Given the description of an element on the screen output the (x, y) to click on. 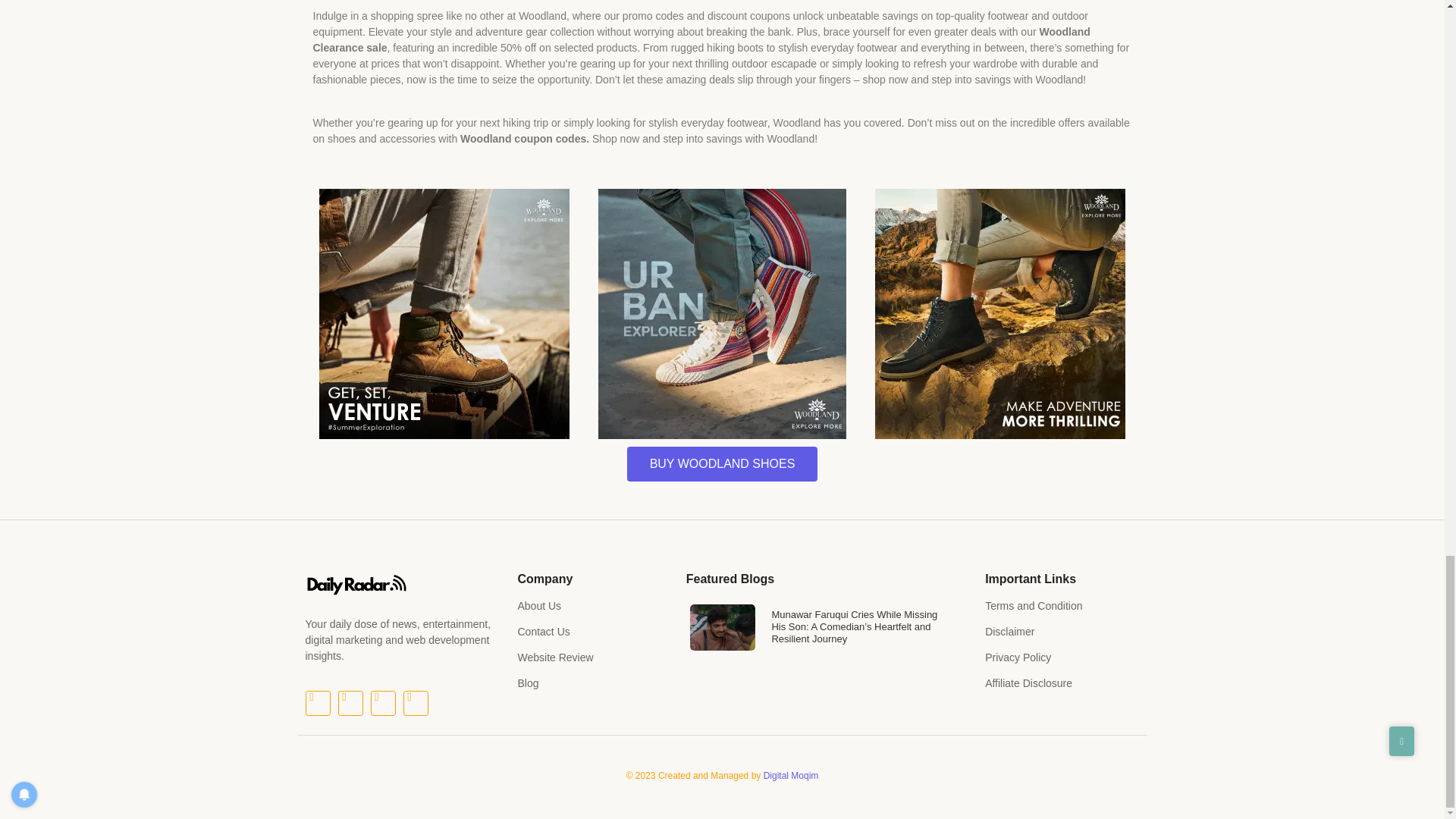
BUY WOODLAND SHOES (722, 463)
